Given the description of an element on the screen output the (x, y) to click on. 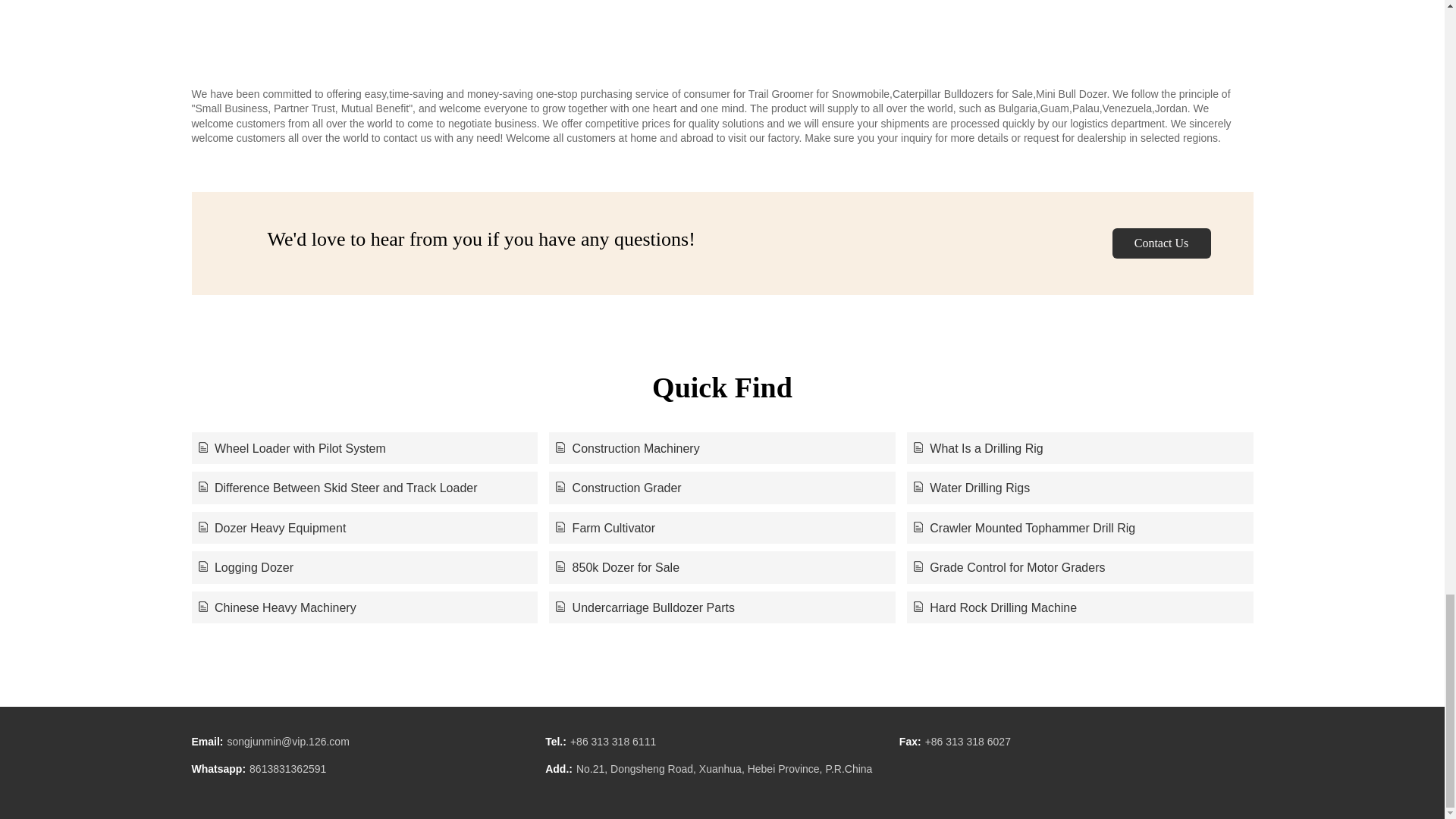
Farm Cultivator (725, 528)
Hard Rock Drilling Machine (1083, 607)
Construction Grader (725, 487)
Chinese Heavy Machinery (368, 607)
Crawler Mounted Tophammer Drill Rig (1083, 528)
850k Dozer for Sale (725, 567)
Difference Between Skid Steer and Track Loader (368, 487)
Water Drilling Rigs (1083, 487)
What Is a Drilling Rig (1083, 448)
Grade Control for Motor Graders (1083, 567)
Wheel Loader with Pilot System (368, 448)
Construction Machinery (725, 448)
Undercarriage Bulldozer Parts (725, 607)
Logging Dozer (368, 567)
Contact Us (1160, 243)
